Given the description of an element on the screen output the (x, y) to click on. 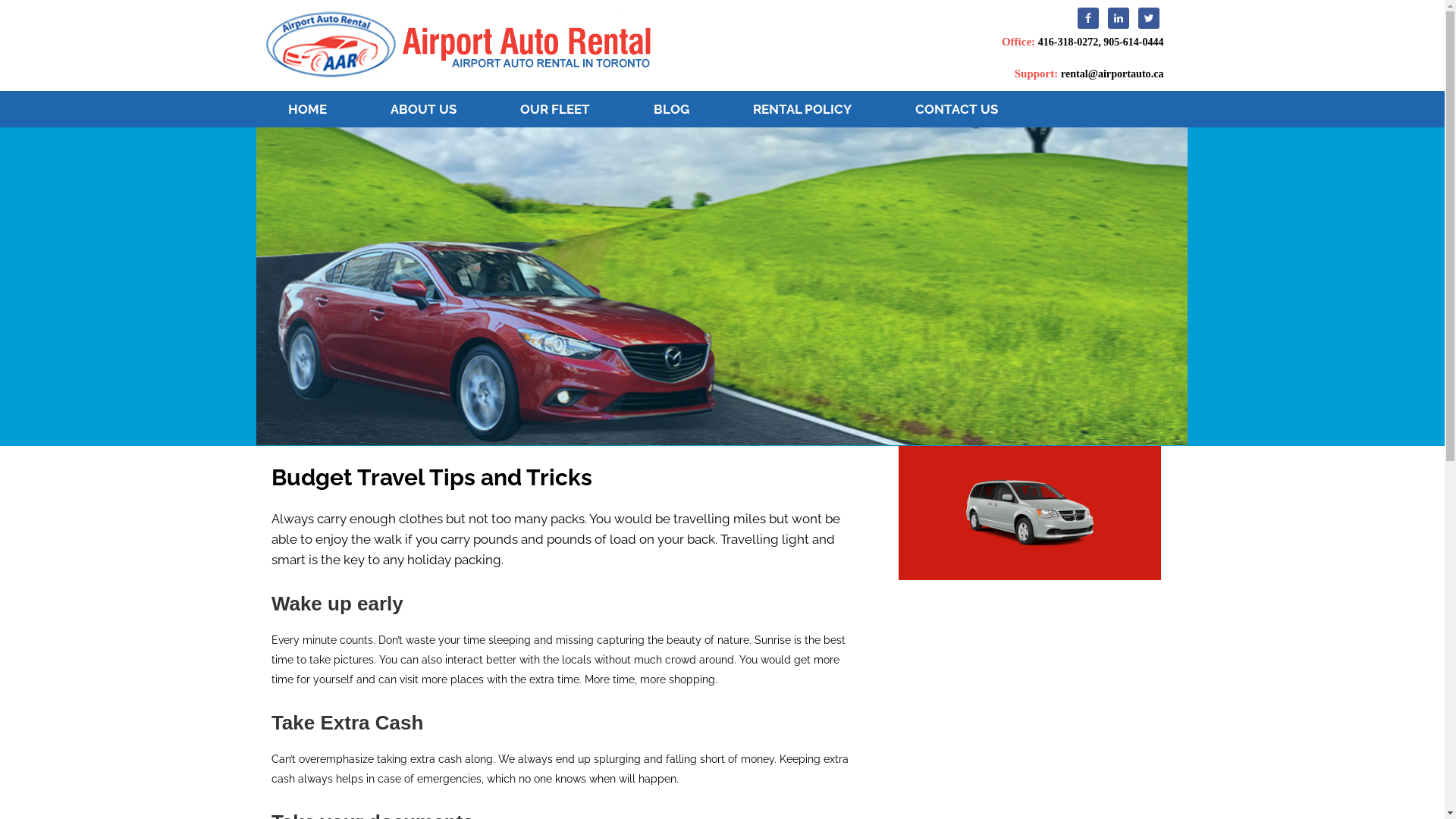
HOME Element type: text (307, 109)
banner2-new Element type: hover (721, 286)
CONTACT US Element type: text (955, 109)
template-final-Recovered_07 Element type: hover (721, 286)
BLOG Element type: text (671, 109)
RENTAL POLICY Element type: text (801, 109)
ABOUT US Element type: text (422, 109)
OUR FLEET Element type: text (554, 109)
